Given the description of an element on the screen output the (x, y) to click on. 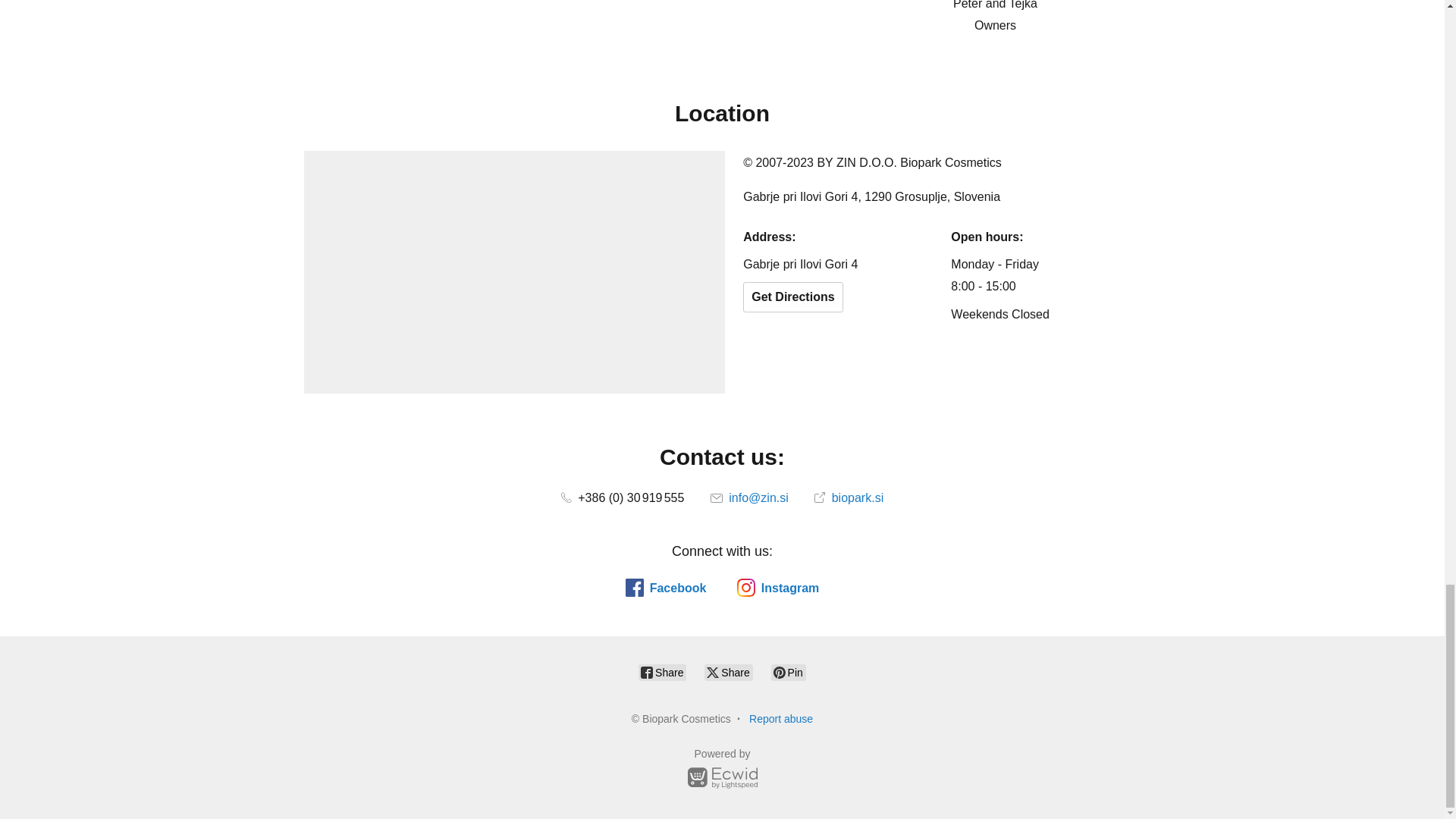
biopark.si (848, 497)
Report abuse (780, 718)
Share (662, 672)
Location on map (513, 271)
Powered by (722, 770)
Pin (788, 672)
Instagram (777, 587)
Get Directions (792, 296)
Share (728, 672)
Facebook (666, 587)
